Given the description of an element on the screen output the (x, y) to click on. 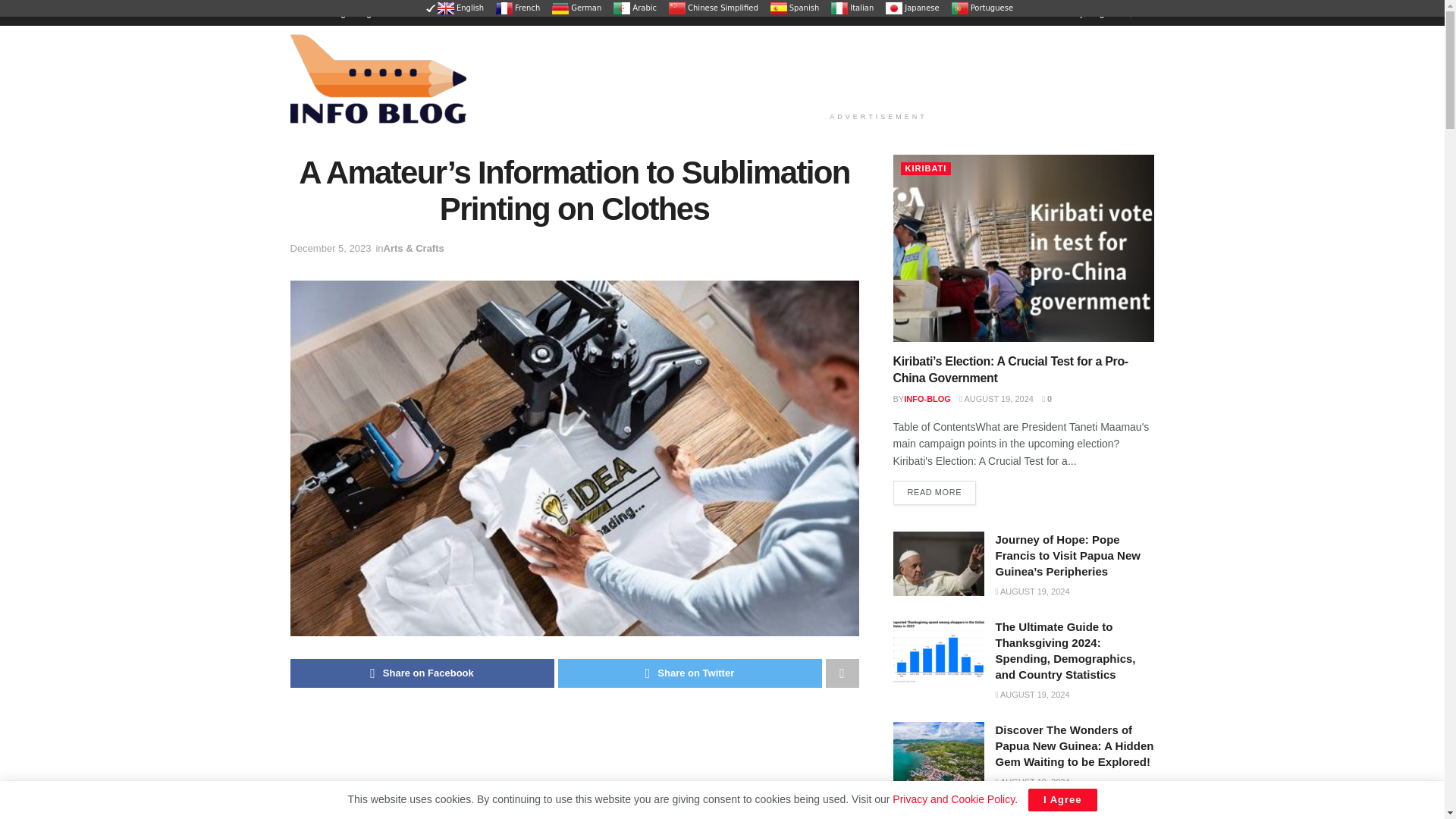
French (517, 8)
Japanese (911, 8)
German (576, 8)
Share on Facebook (421, 673)
December 5, 2023 (330, 247)
Advertisement (878, 65)
Share on Twitter (689, 673)
English (457, 8)
French (517, 8)
Japanese (911, 8)
